Given the description of an element on the screen output the (x, y) to click on. 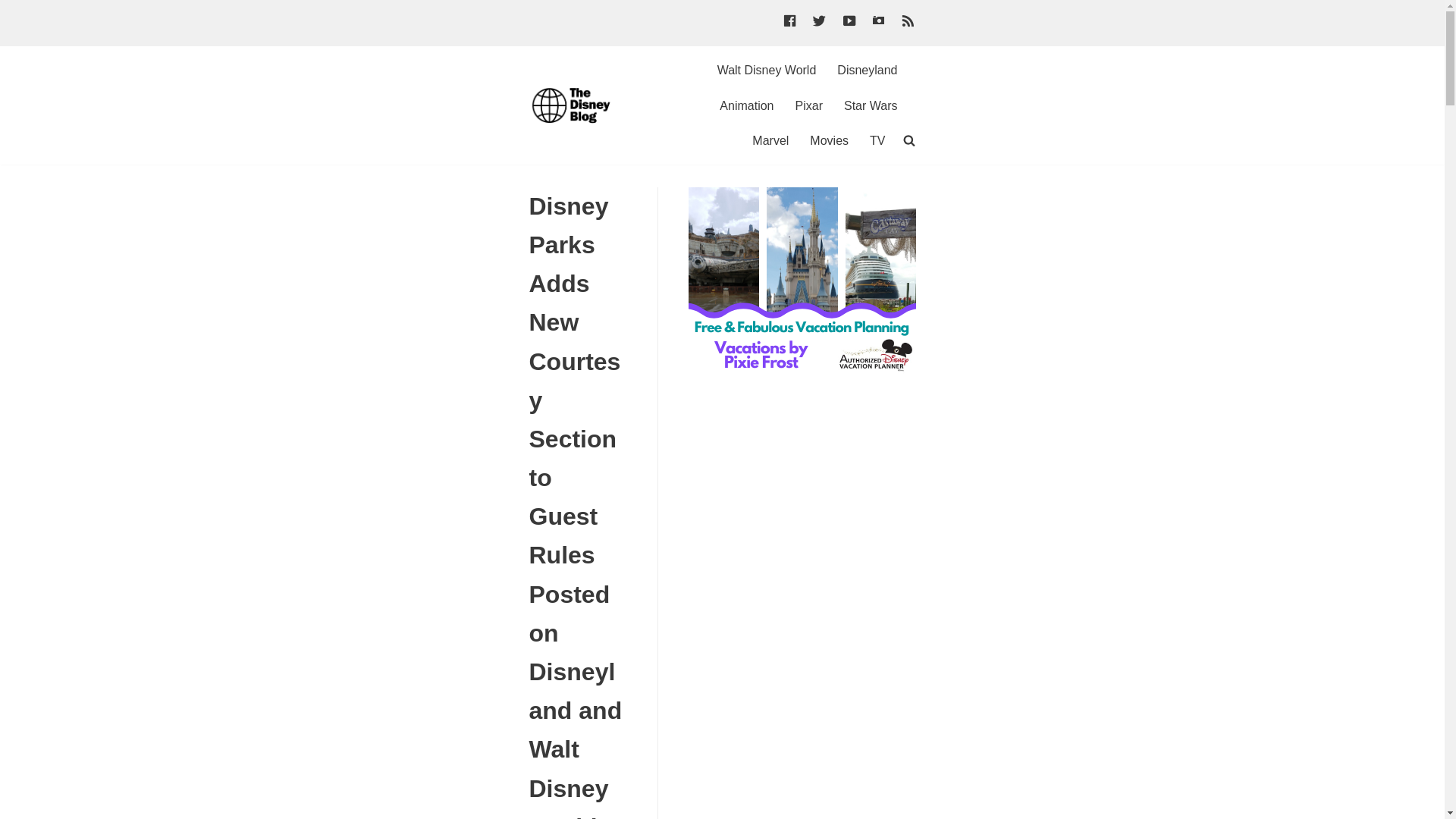
Star Wars (871, 105)
Skip to content (15, 7)
The Disney Blog (574, 104)
Animation (746, 105)
Marvel (770, 140)
Movies (828, 140)
Pixar (808, 105)
Walt Disney World (766, 69)
Disneyland (866, 69)
